Given the description of an element on the screen output the (x, y) to click on. 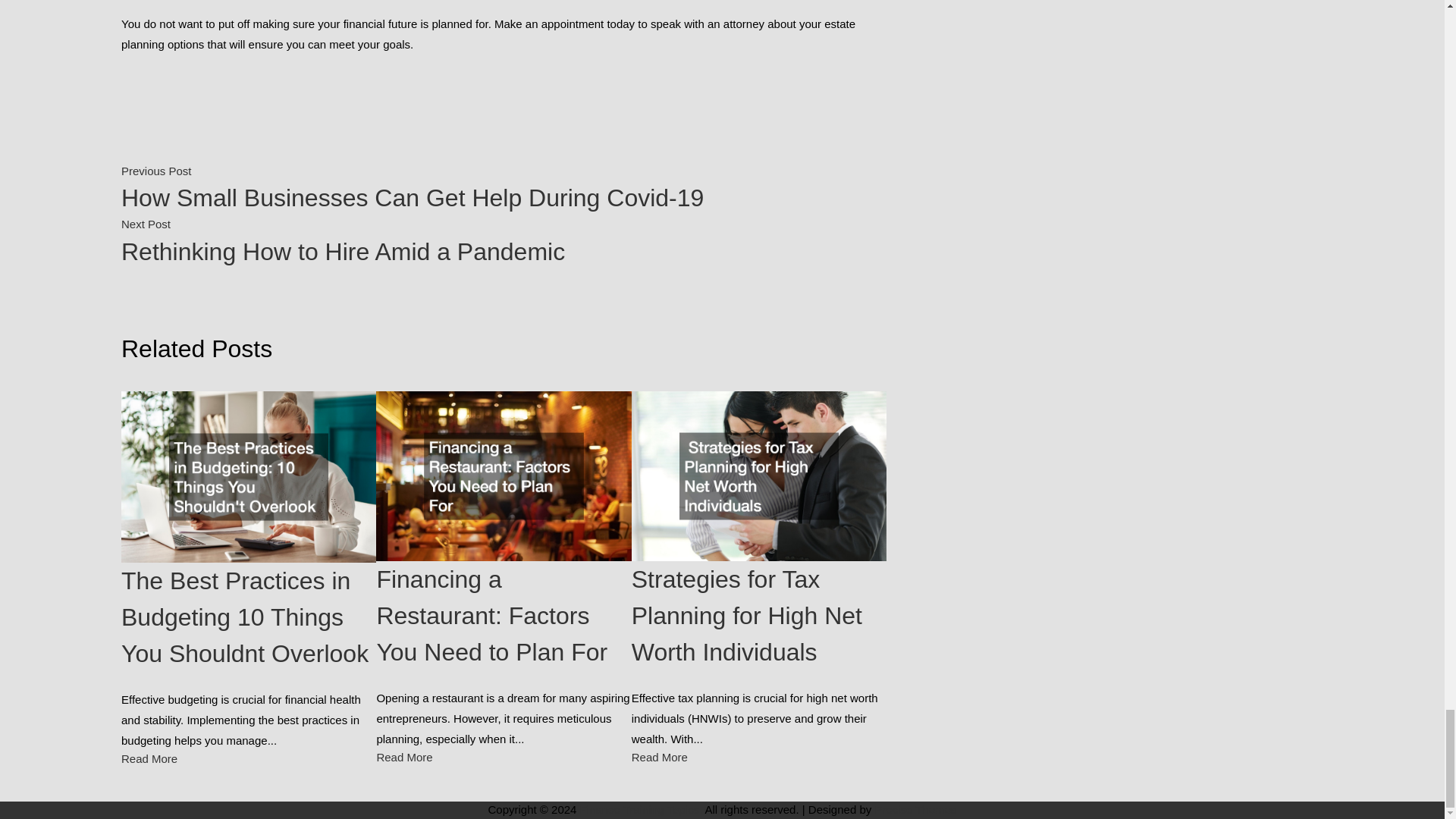
Read More (659, 757)
Read More (503, 243)
Read More (148, 758)
Strategies for Tax Planning for High Net Worth Individuals (403, 757)
Financing a Restaurant: Factors You Need to Plan For (746, 615)
